Given the description of an element on the screen output the (x, y) to click on. 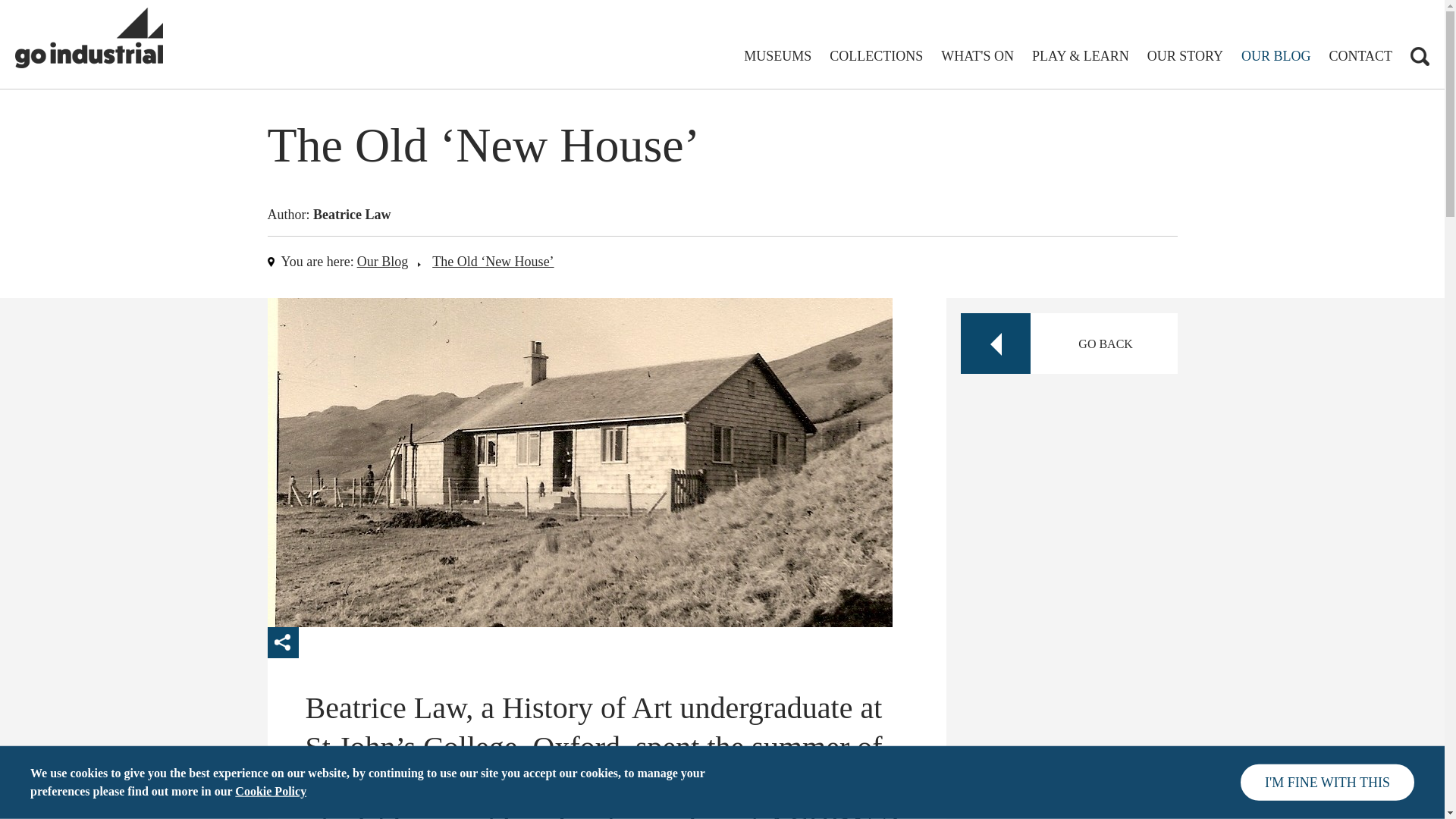
Our Blog (382, 261)
COLLECTIONS (876, 56)
MUSEUMS (777, 56)
CONTACT (1359, 56)
GO BACK (1068, 342)
OUR BLOG (1276, 56)
WHAT'S ON (976, 56)
OUR STORY (1185, 56)
